Given the description of an element on the screen output the (x, y) to click on. 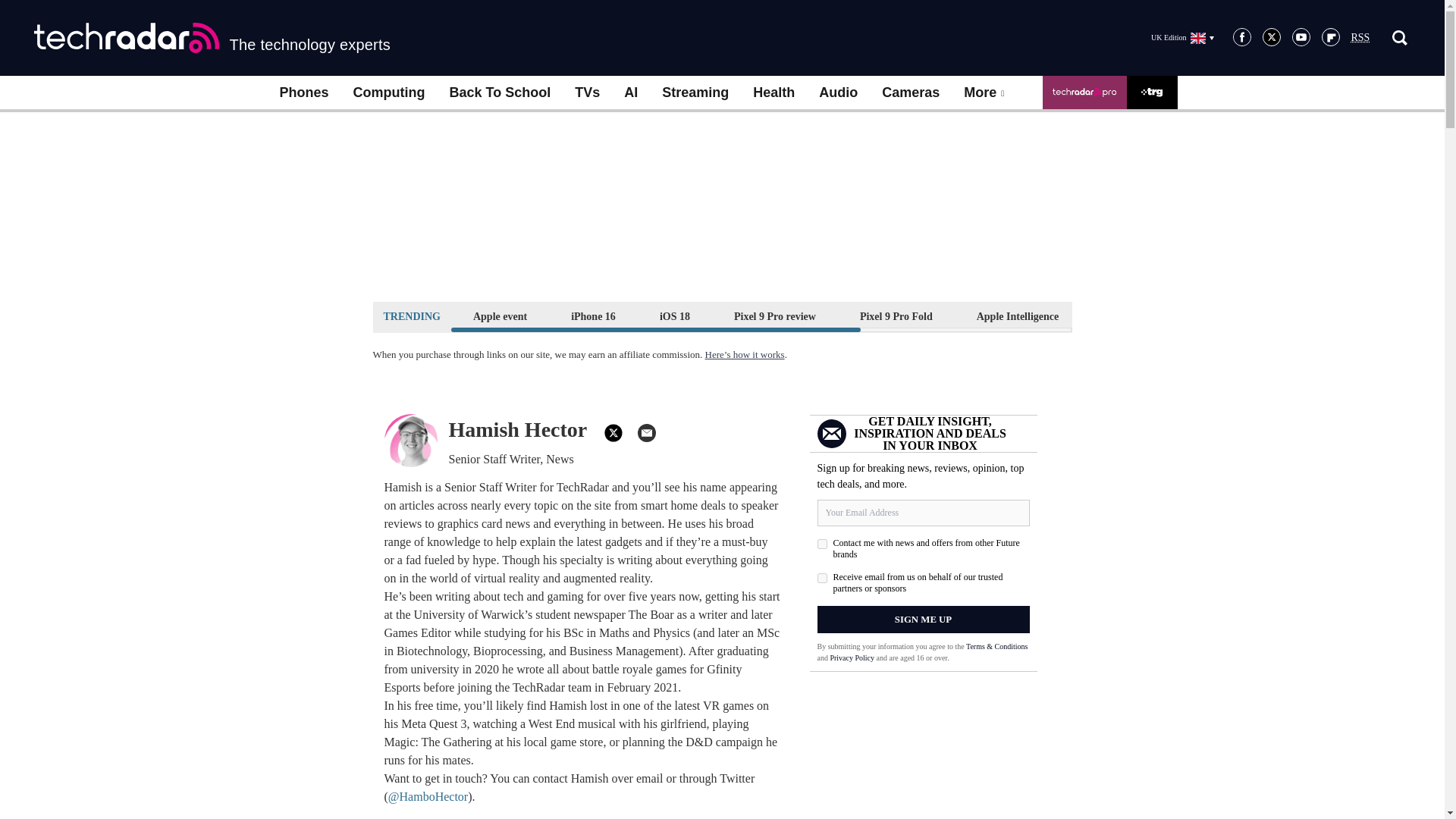
Sign me up (922, 619)
Phones (303, 92)
on (821, 543)
on (821, 578)
TVs (586, 92)
Streaming (695, 92)
AI (630, 92)
Cameras (910, 92)
UK Edition (1181, 37)
Really Simple Syndication (1360, 37)
